Given the description of an element on the screen output the (x, y) to click on. 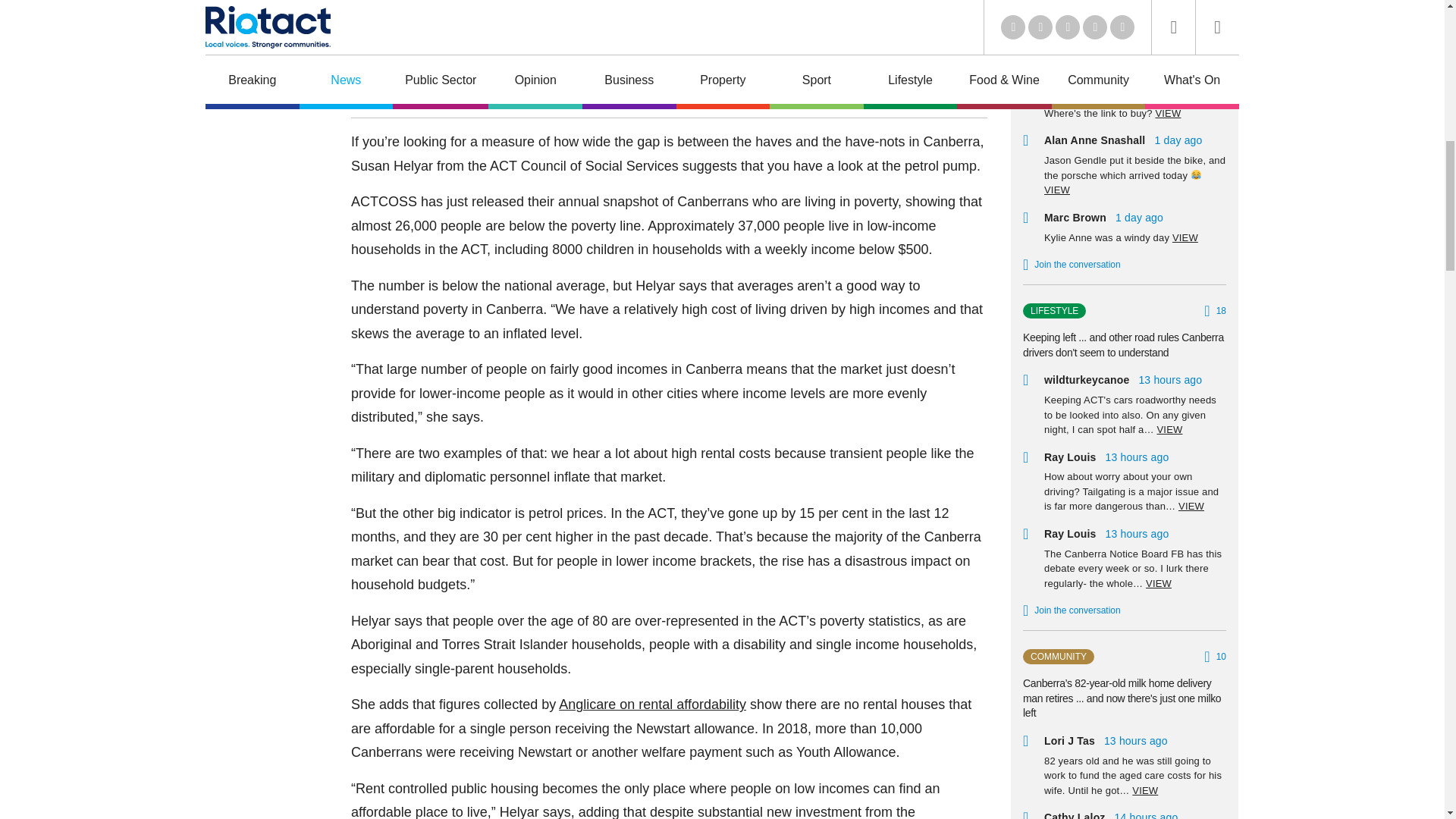
3rd party ad content (265, 27)
